Given the description of an element on the screen output the (x, y) to click on. 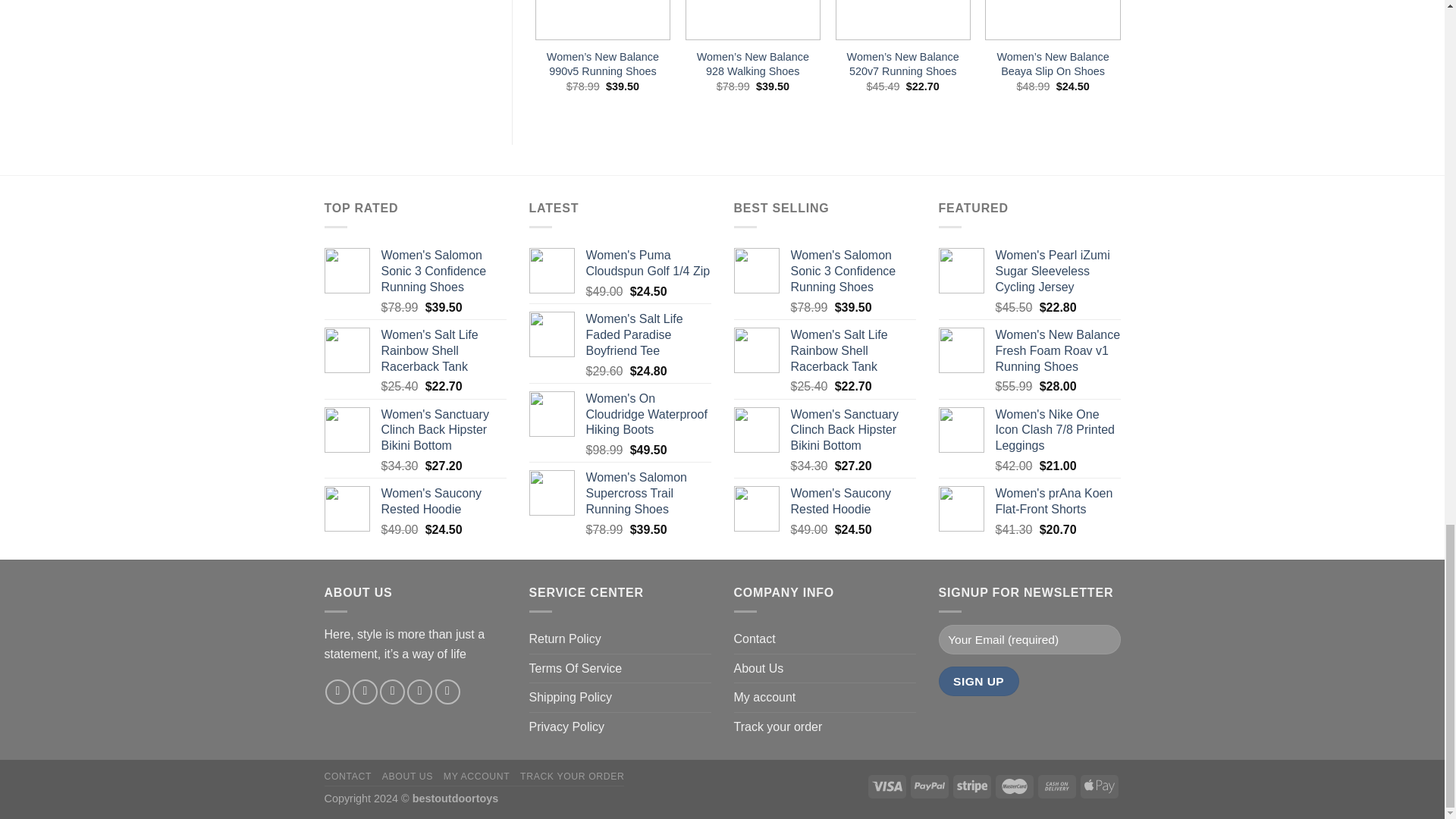
Sign Up (979, 681)
